Given the description of an element on the screen output the (x, y) to click on. 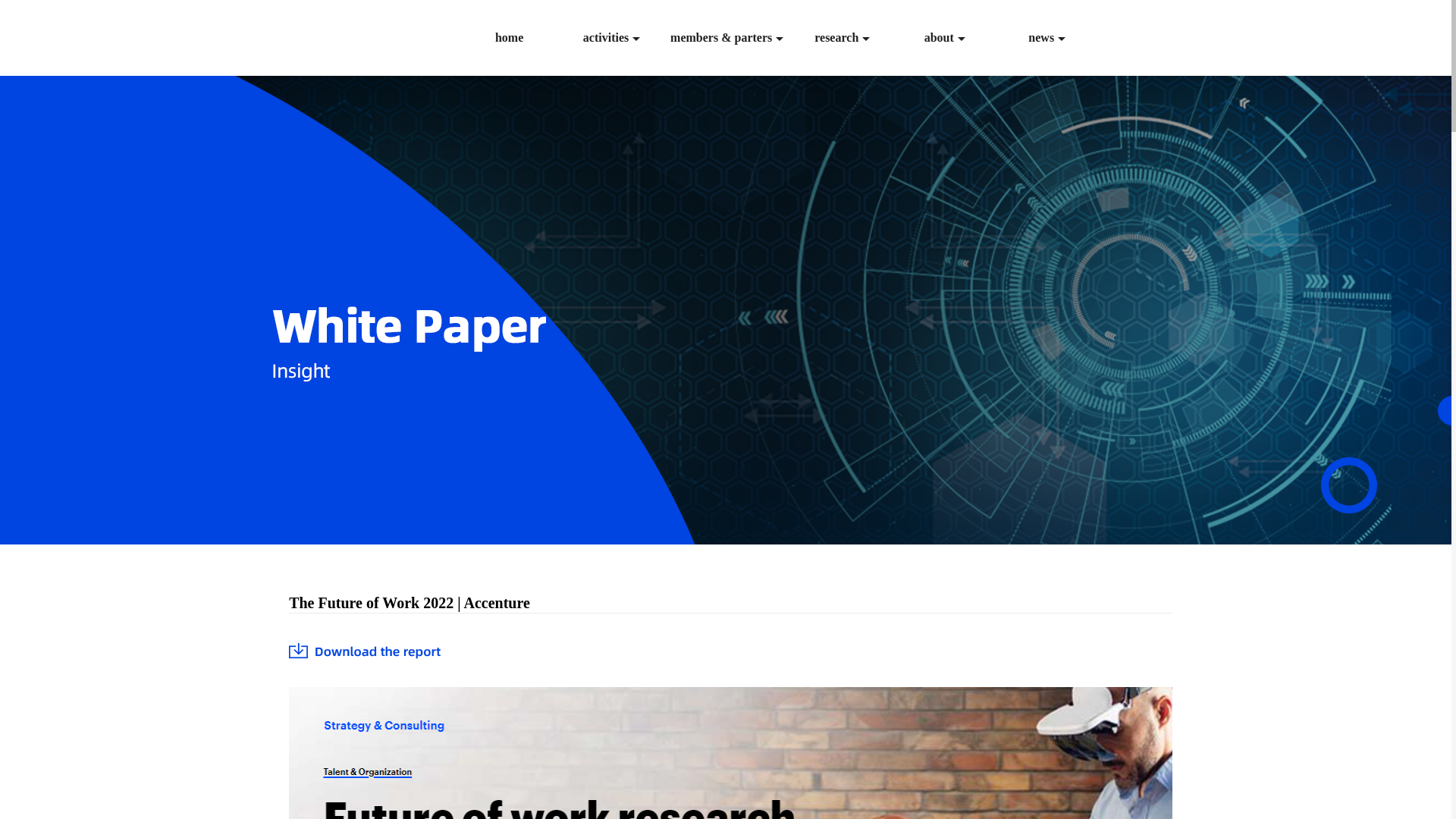
news (1046, 37)
activities (611, 37)
research (841, 37)
about (944, 37)
home (509, 37)
